Given the description of an element on the screen output the (x, y) to click on. 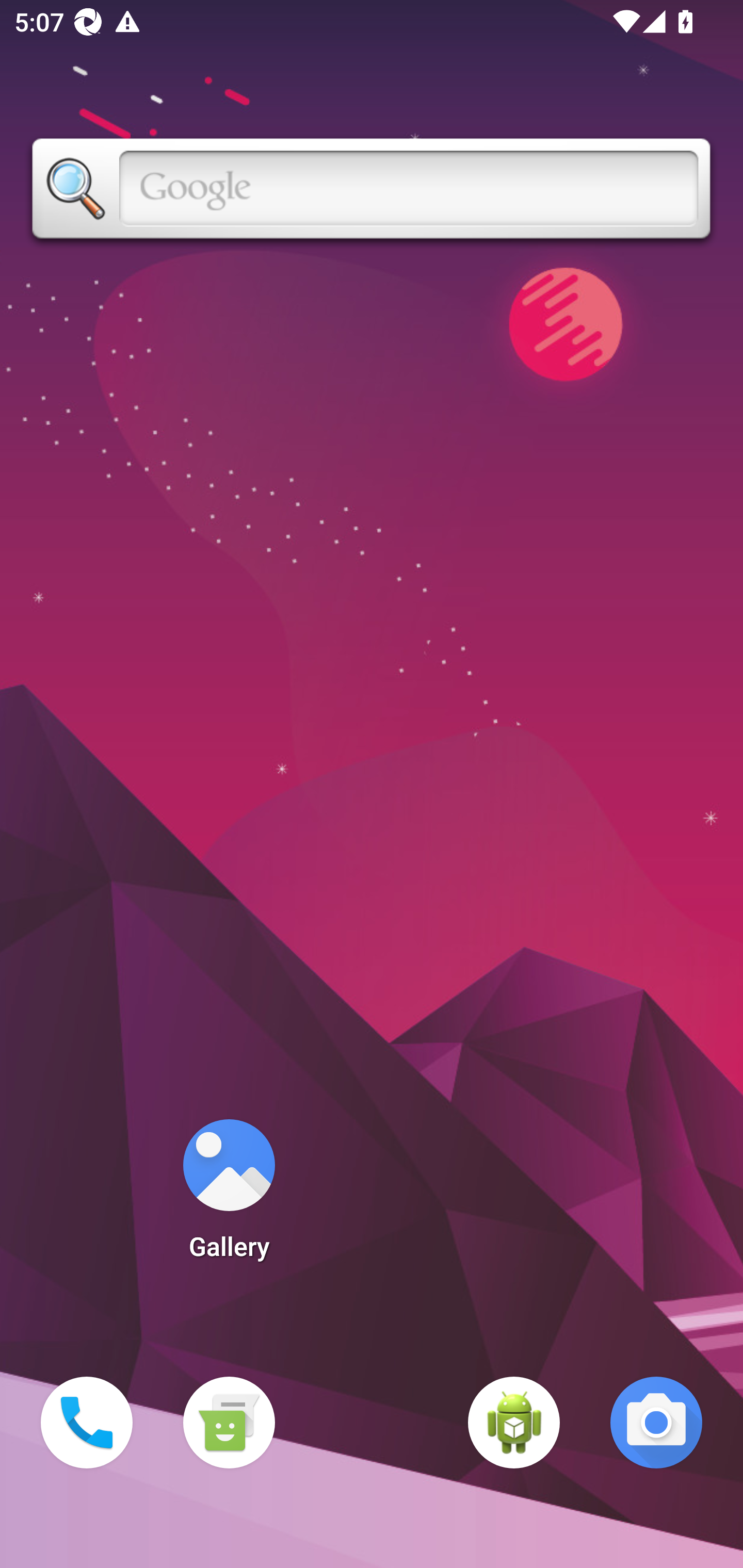
Gallery (228, 1195)
Phone (86, 1422)
Messaging (228, 1422)
WebView Browser Tester (513, 1422)
Camera (656, 1422)
